Given the description of an element on the screen output the (x, y) to click on. 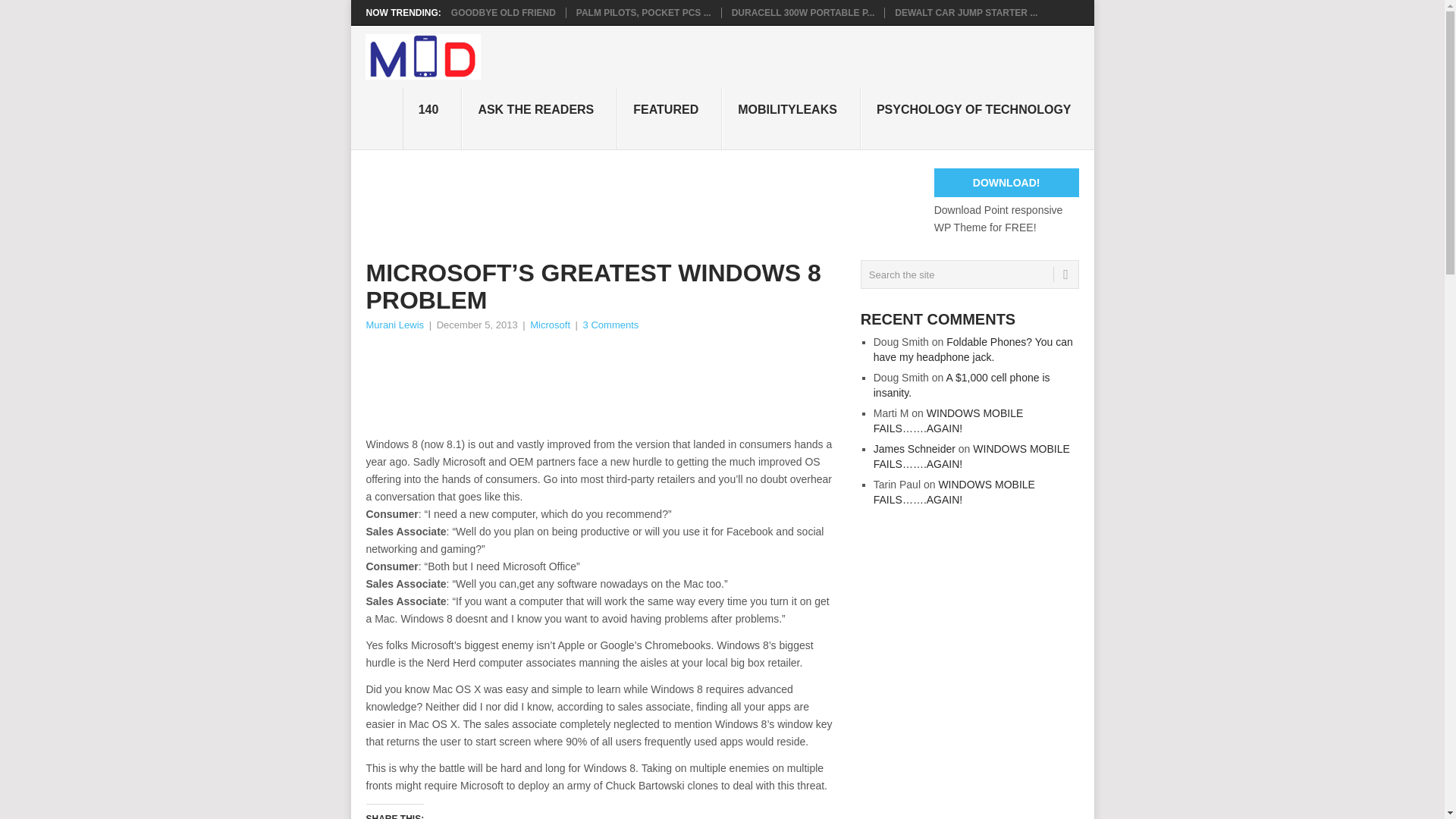
140 (433, 118)
3 Comments (611, 324)
Posts by Murani Lewis (394, 324)
DeWalt Car Jump Starter Review (965, 12)
DOWNLOAD! (1006, 182)
PSYCHOLOGY OF TECHNOLOGY (977, 118)
Duracell 300w Portable Power Station Review (803, 12)
Murani Lewis (394, 324)
FEATURED (669, 118)
Goodbye Old Friend (503, 12)
